Given the description of an element on the screen output the (x, y) to click on. 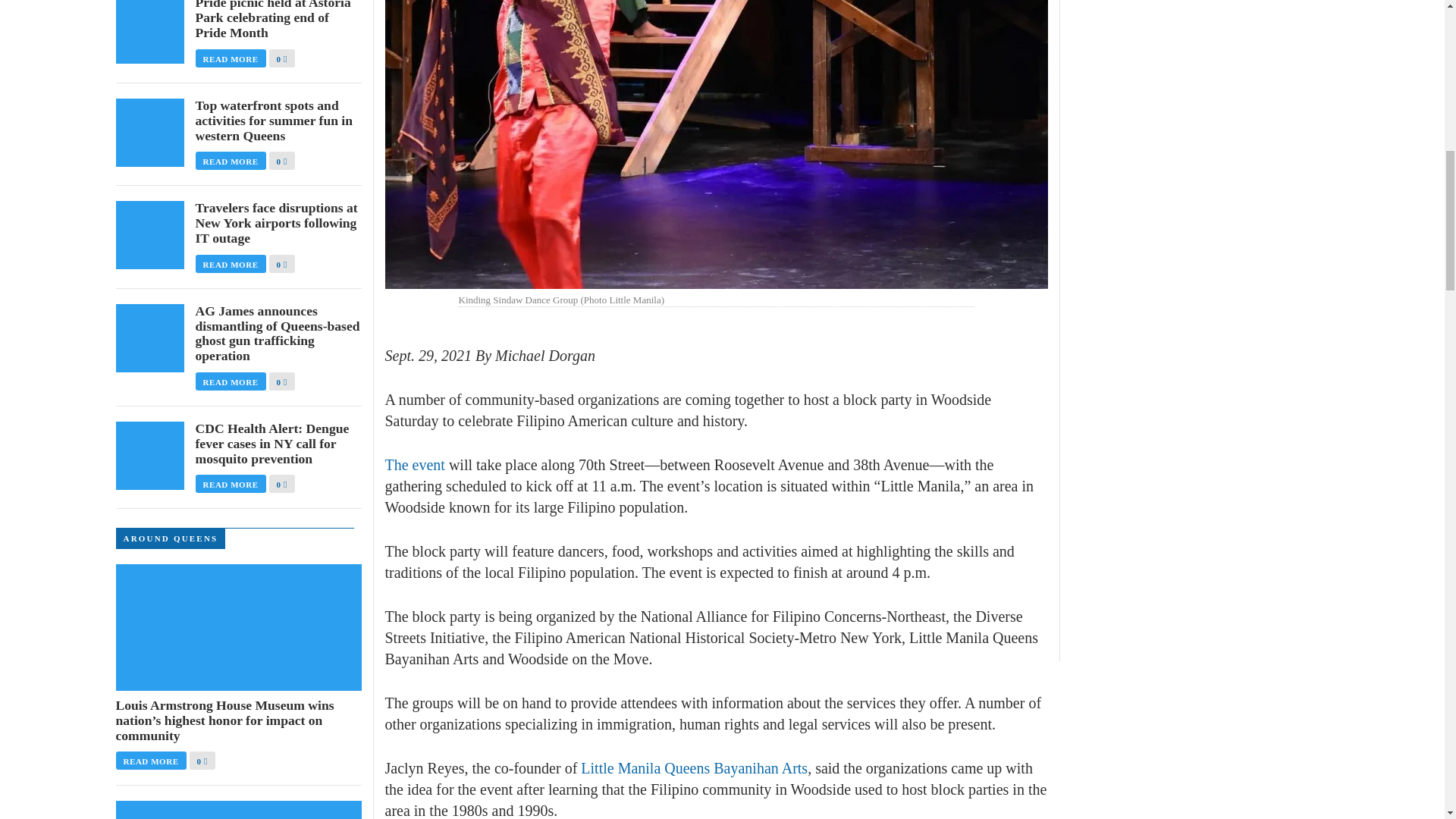
Little Manila Queens Bayanihan Arts (694, 768)
The event (415, 464)
